Given the description of an element on the screen output the (x, y) to click on. 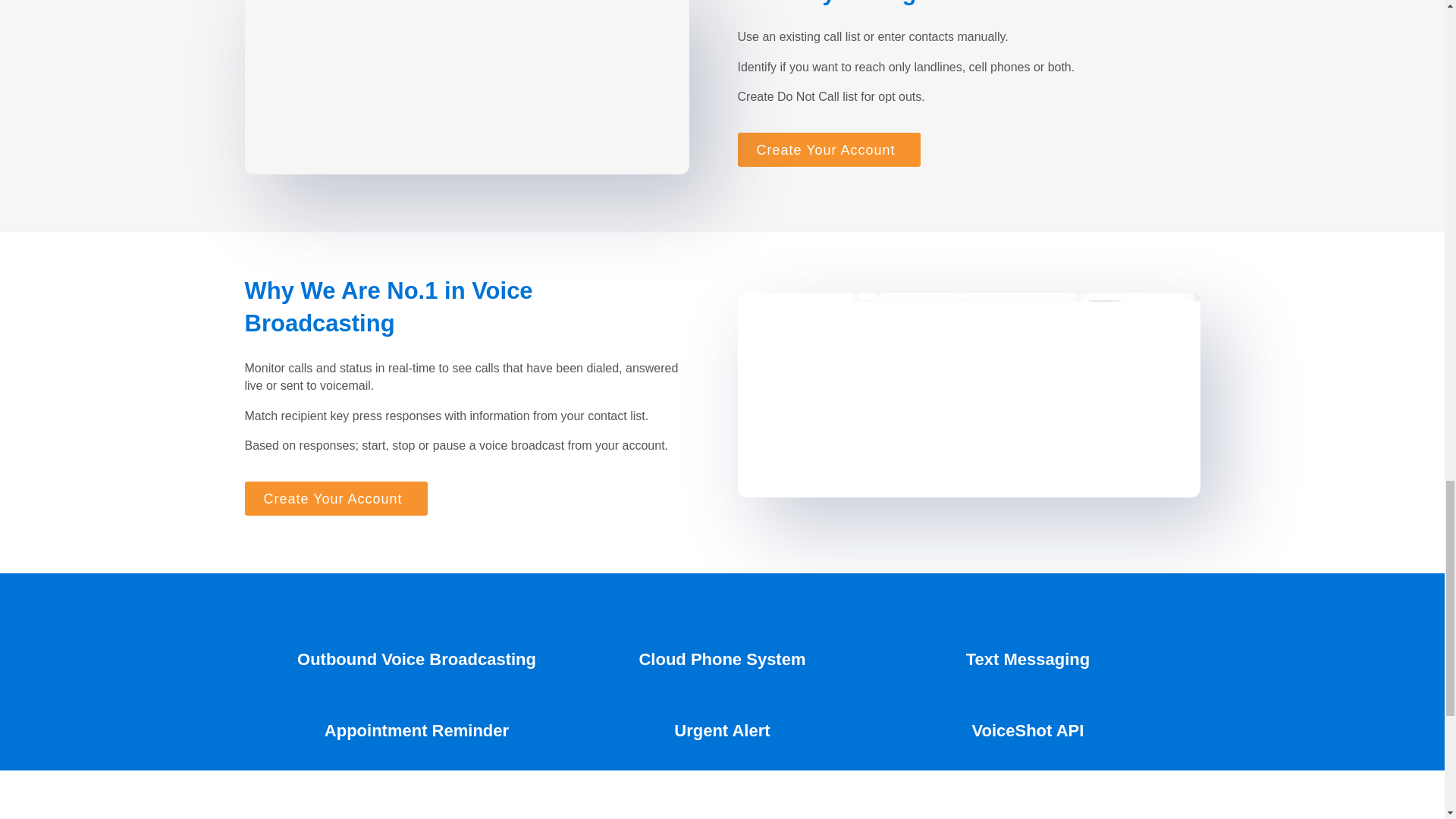
VoiceShot-Reporting-800 (967, 394)
Create Your Account (828, 149)
Create Your Account (335, 498)
Contact-List-800 (466, 87)
